Given the description of an element on the screen output the (x, y) to click on. 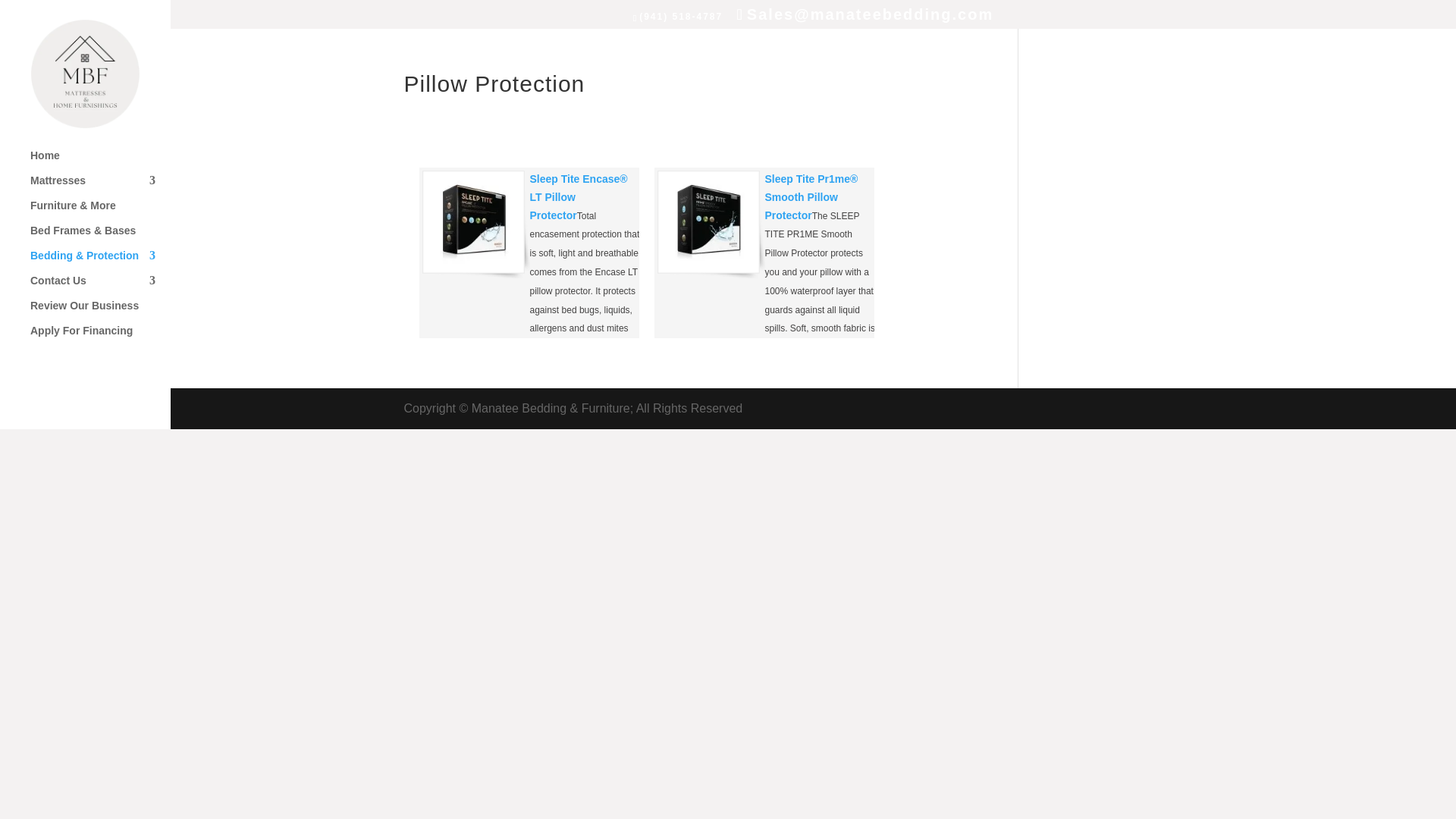
Contact Us (100, 287)
Mattresses (100, 187)
Apply For Financing (100, 337)
Home (100, 162)
Review Our Business (100, 312)
